Given the description of an element on the screen output the (x, y) to click on. 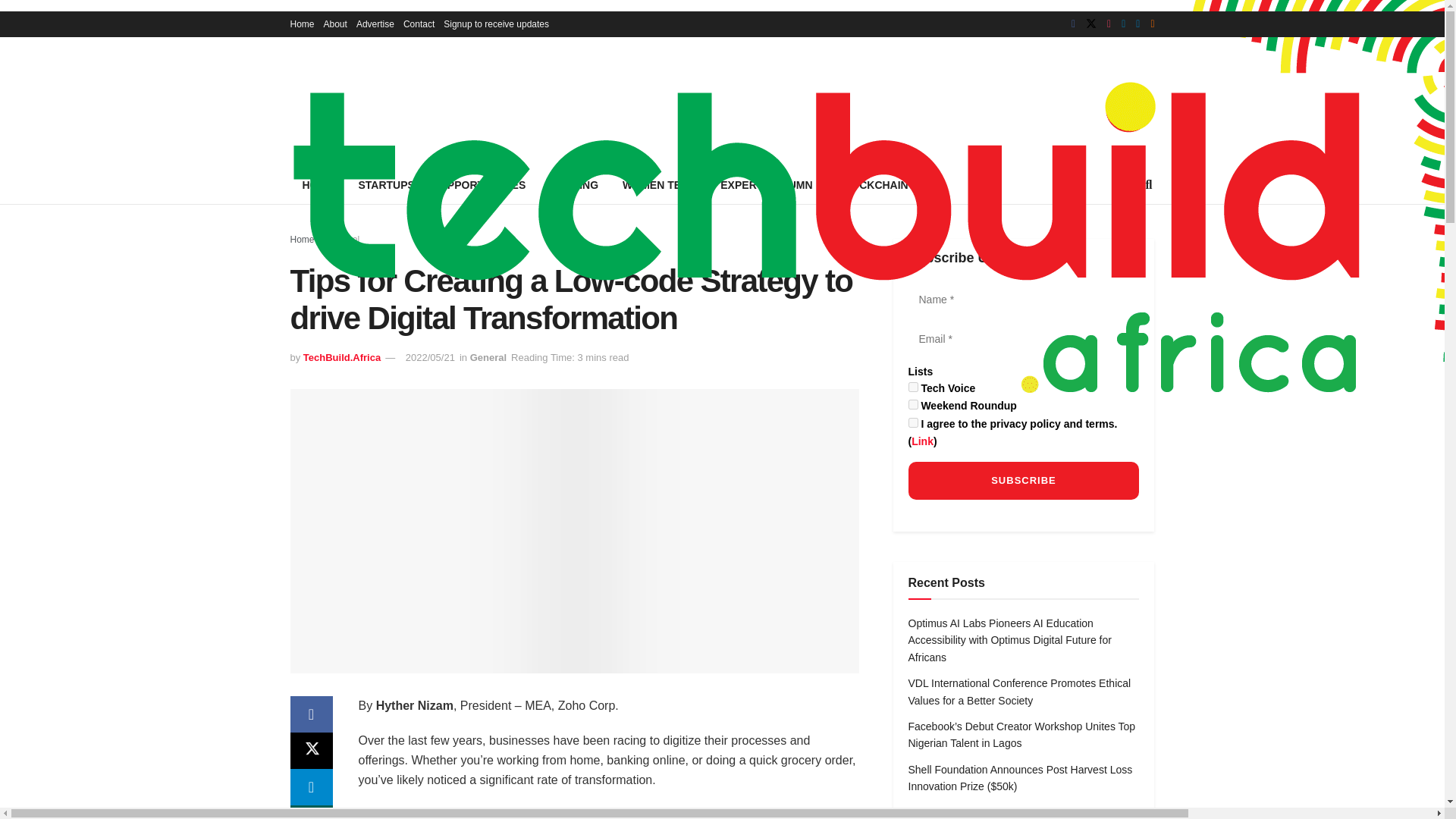
Advertise (375, 23)
Home (301, 239)
Home (301, 23)
TechBuild.Africa (341, 357)
General (488, 357)
FUNDING (573, 184)
Contact (418, 23)
WOMEN TECH (658, 184)
16 (913, 404)
HOME (317, 184)
Signup to receive updates (496, 23)
1 (913, 422)
15 (913, 387)
General (343, 239)
STARTUPS (386, 184)
